Given the description of an element on the screen output the (x, y) to click on. 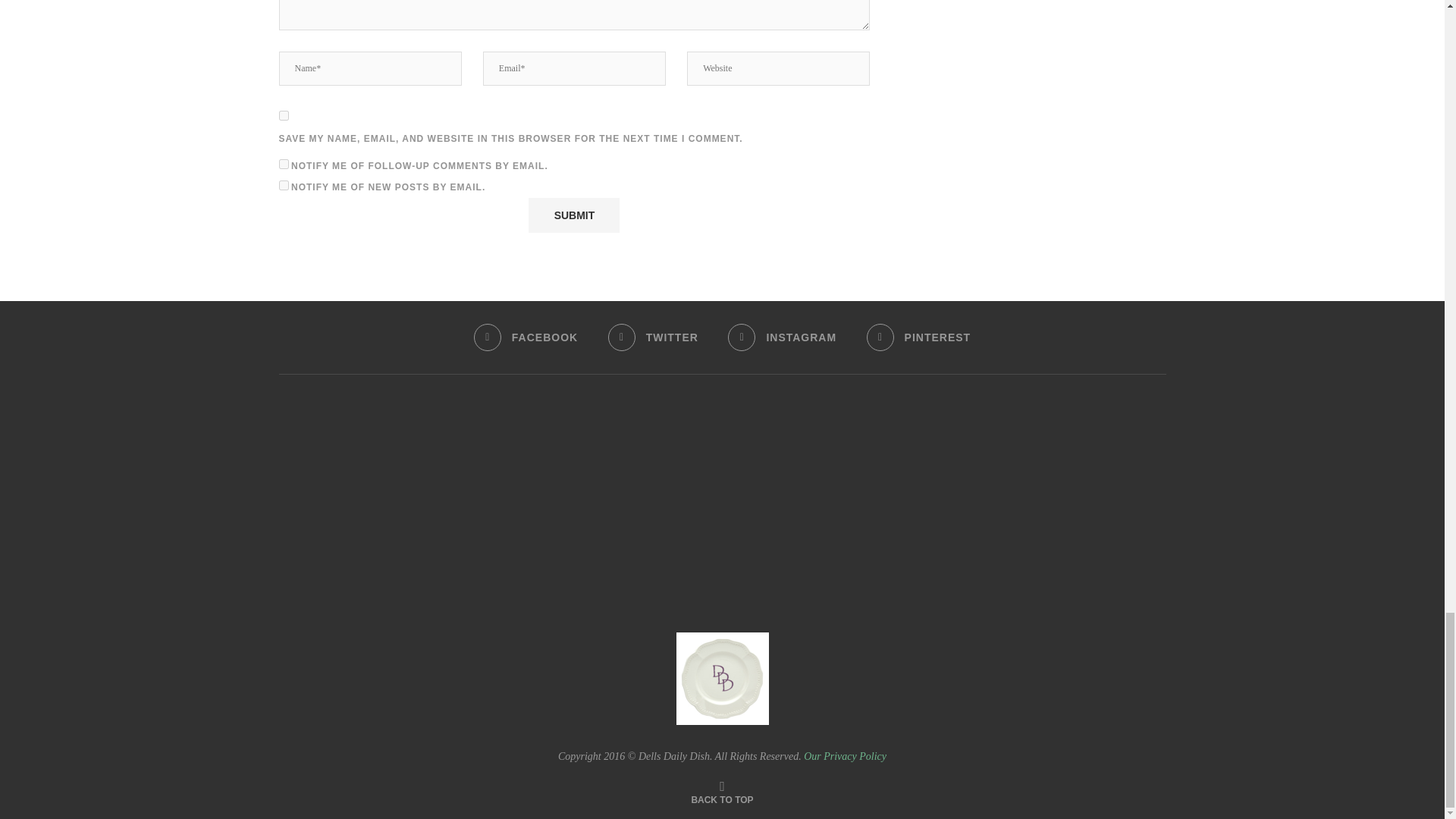
yes (283, 115)
subscribe (283, 185)
Submit (574, 215)
subscribe (283, 163)
